Given the description of an element on the screen output the (x, y) to click on. 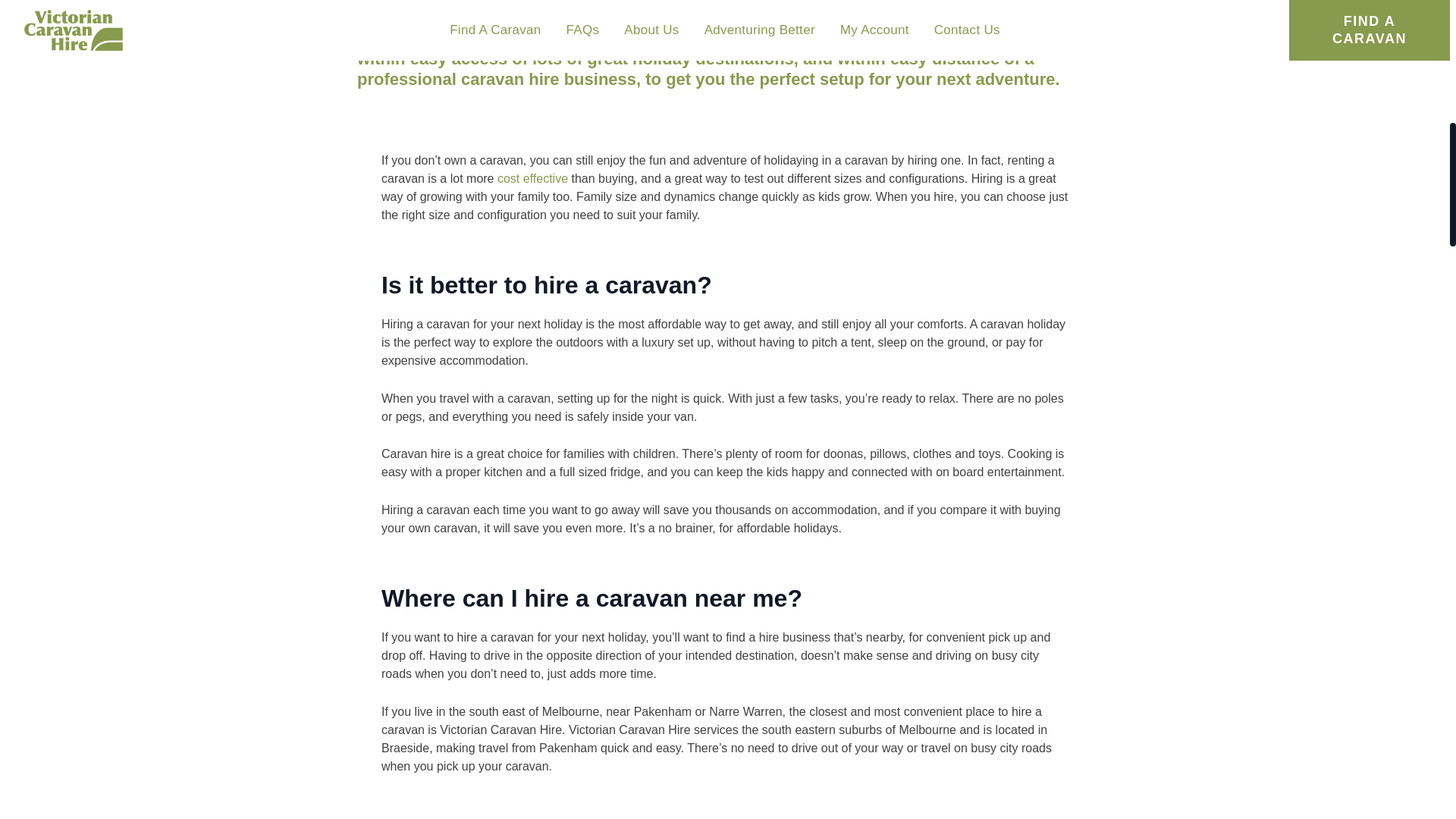
cost effective (532, 178)
